Given the description of an element on the screen output the (x, y) to click on. 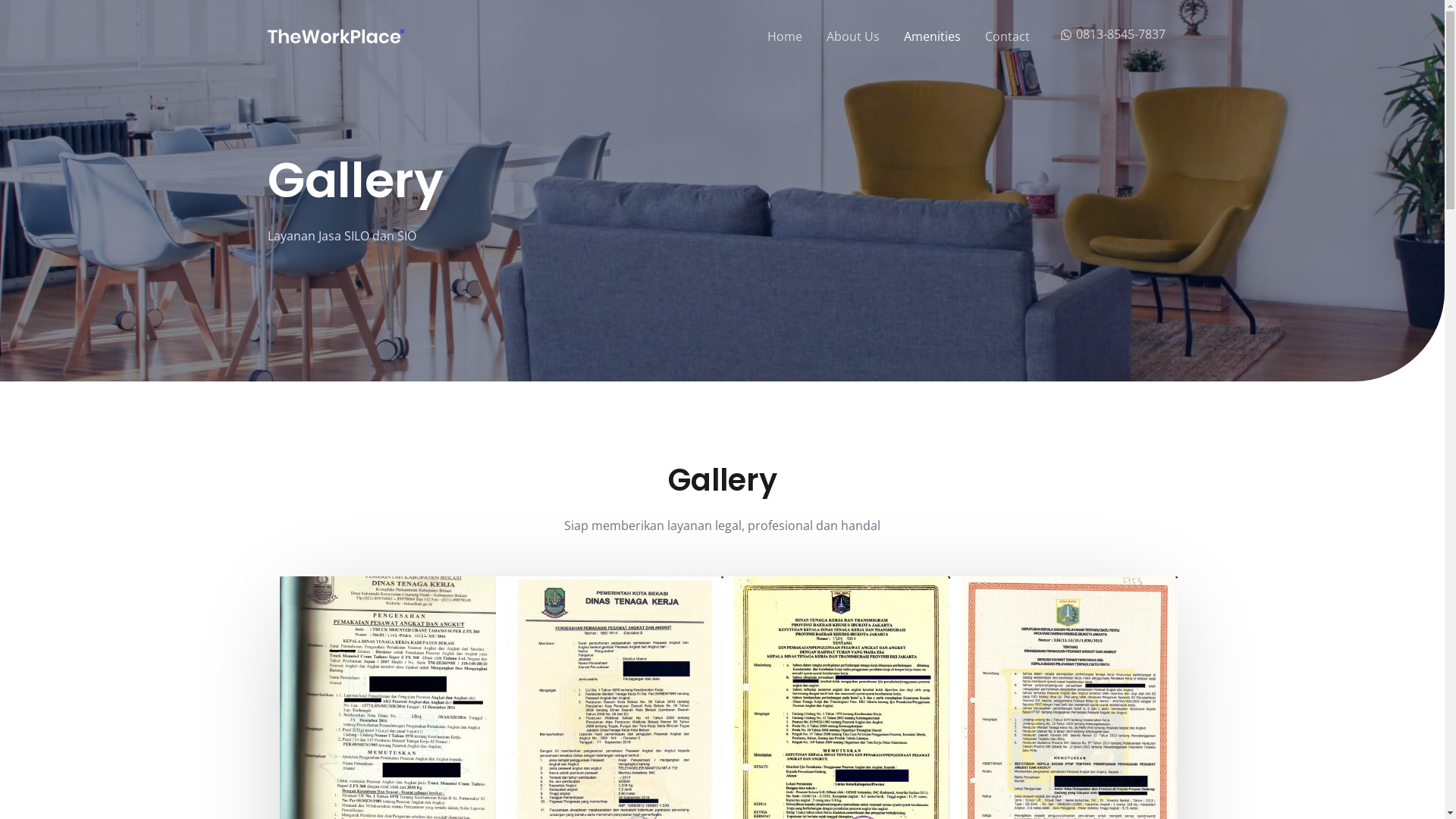
Contact Element type: text (1006, 36)
Home Element type: text (784, 36)
0813-8545-7837 Element type: text (1112, 33)
Amenities Element type: text (931, 36)
About Us Element type: text (852, 36)
